Given the description of an element on the screen output the (x, y) to click on. 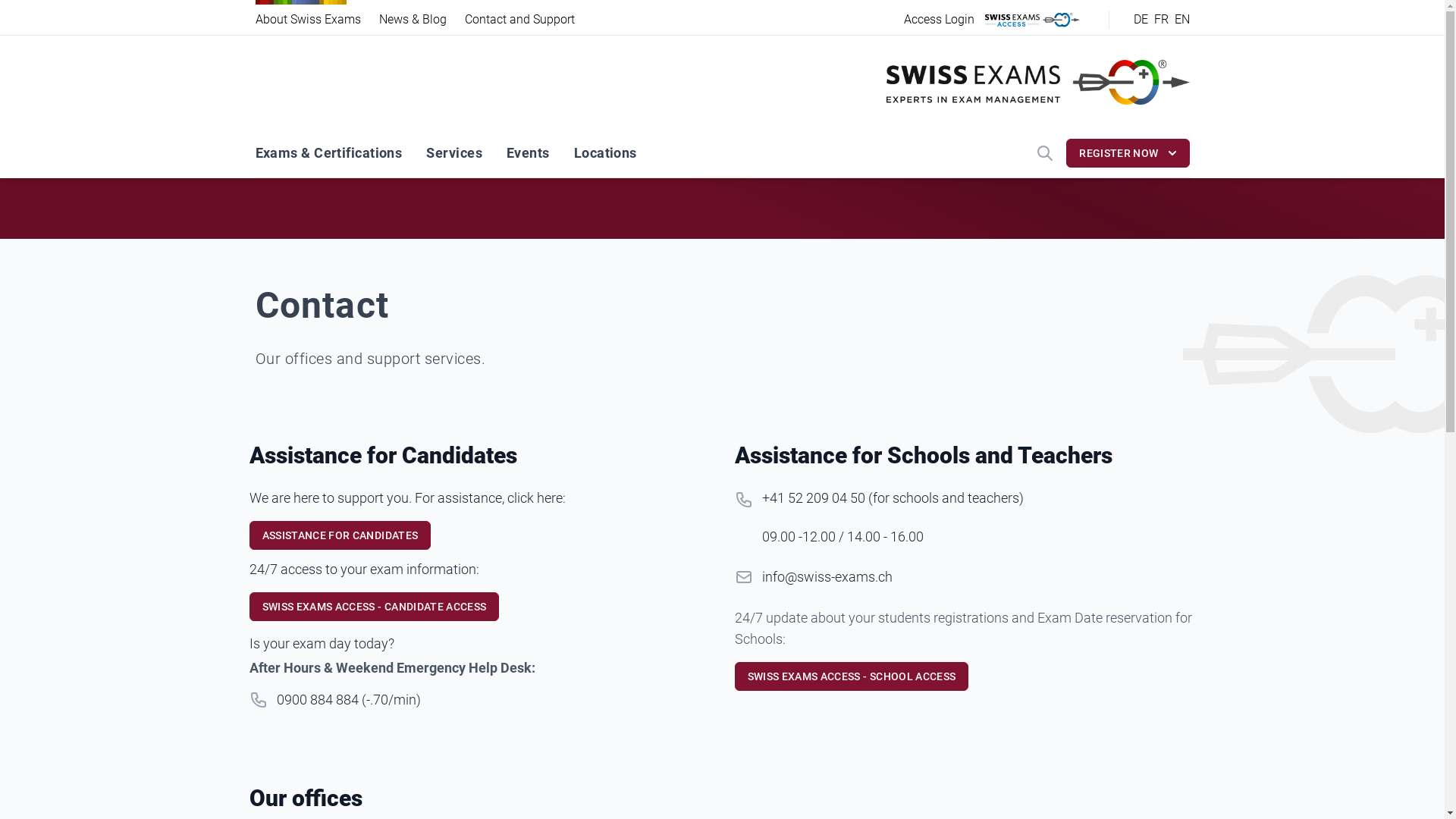
SWISS EXAMS ACCESS - CANDIDATE ACCESS Element type: text (373, 606)
REGISTER NOW Element type: text (1127, 152)
DE Element type: text (1139, 19)
About Swiss Exams Element type: text (307, 19)
Events Element type: text (527, 153)
Search Element type: text (1044, 153)
SWISS EXAMS ACCESS - SCHOOL ACCESS Element type: text (851, 676)
News & Blog Element type: text (412, 19)
Exams & Certifications Element type: text (327, 153)
ASSISTANCE FOR CANDIDATES Element type: text (339, 534)
Services Element type: text (454, 153)
Locations Element type: text (605, 153)
FR Element type: text (1161, 19)
Access Login Element type: text (938, 19)
Contact and Support Element type: text (519, 19)
EN Element type: text (1181, 19)
